Given the description of an element on the screen output the (x, y) to click on. 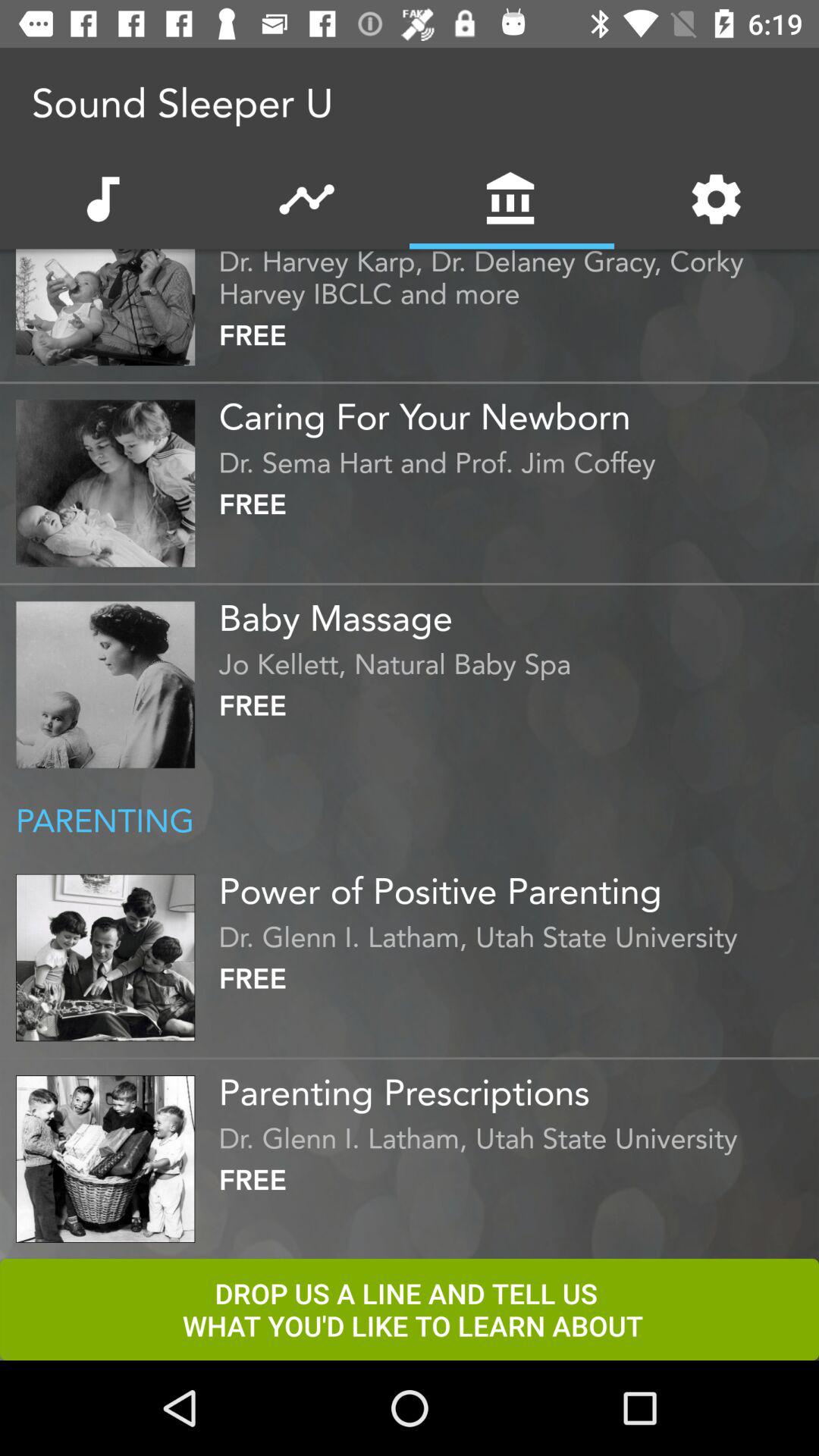
select icon below free icon (515, 410)
